Given the description of an element on the screen output the (x, y) to click on. 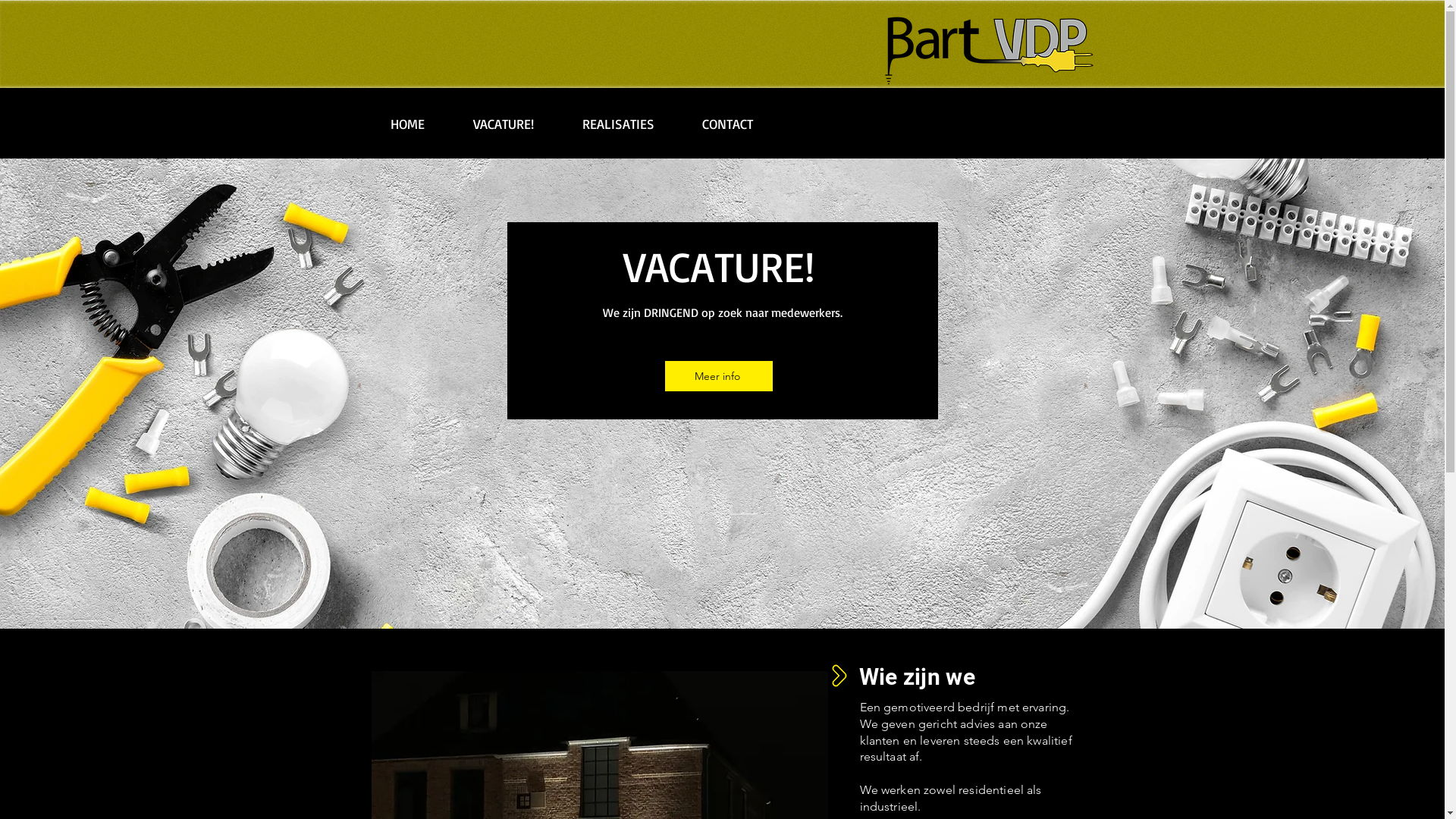
REALISATIES Element type: text (618, 123)
VACATURE! Element type: text (503, 123)
Meer info Element type: text (717, 375)
CONTACT Element type: text (726, 123)
HOME Element type: text (406, 123)
BARTVDP.png Element type: hover (987, 51)
